Given the description of an element on the screen output the (x, y) to click on. 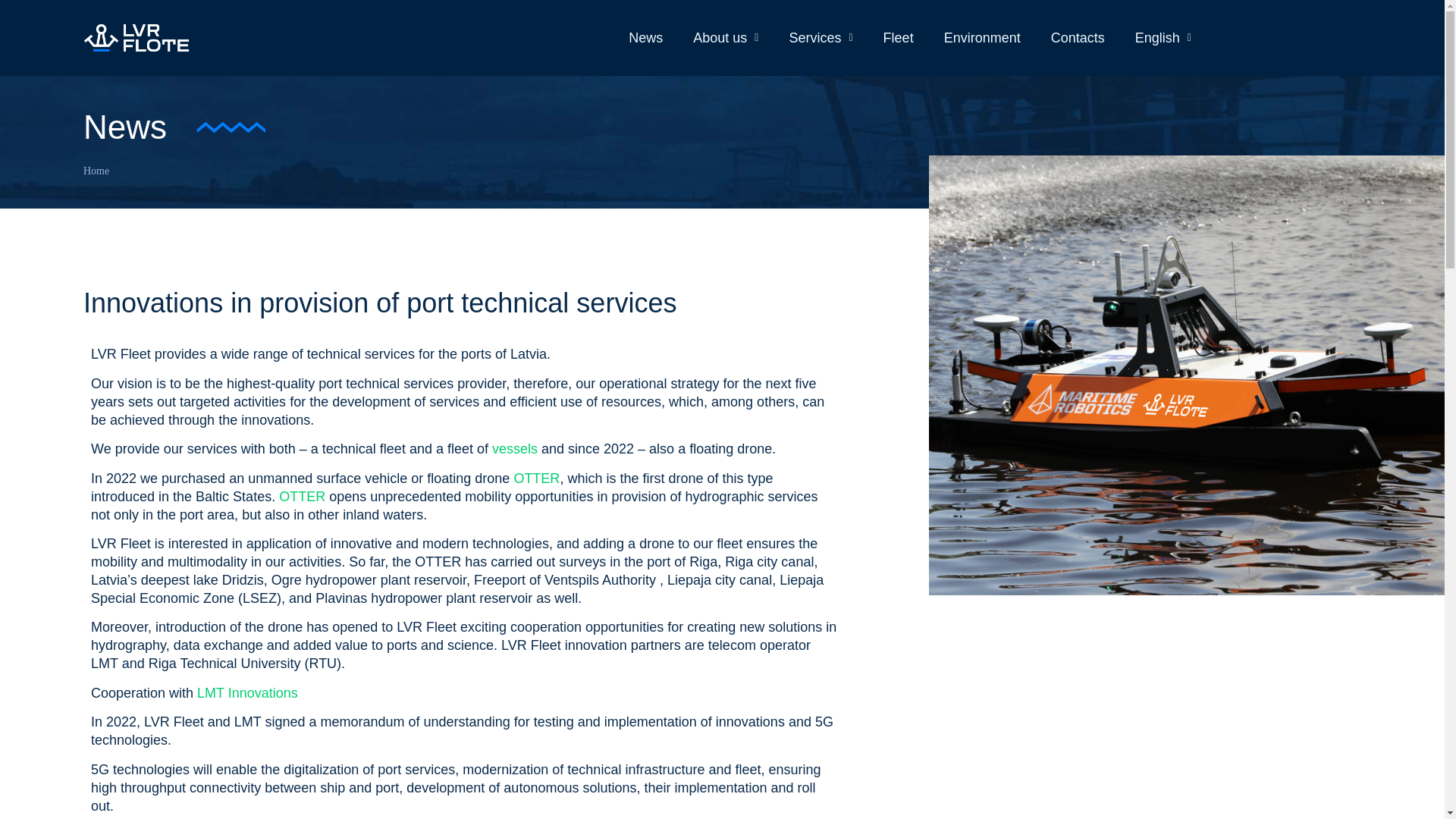
News (645, 37)
English (1162, 37)
Contacts (1077, 37)
Environment (981, 37)
Services (820, 37)
Fleet (898, 37)
About us (725, 37)
English (1162, 37)
